Given the description of an element on the screen output the (x, y) to click on. 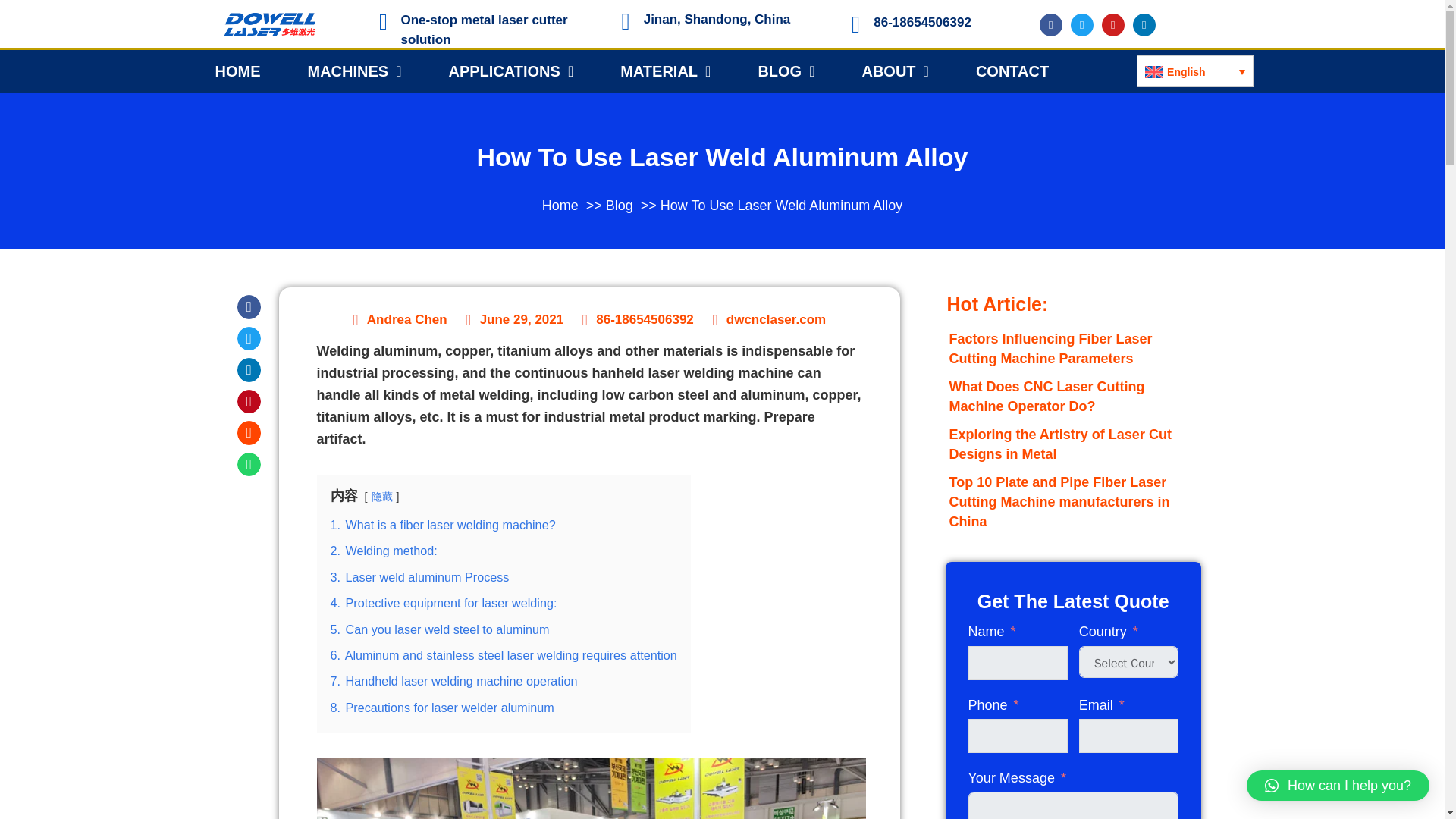
APPLICATIONS (510, 70)
HOME (236, 70)
MACHINES (354, 70)
